Given the description of an element on the screen output the (x, y) to click on. 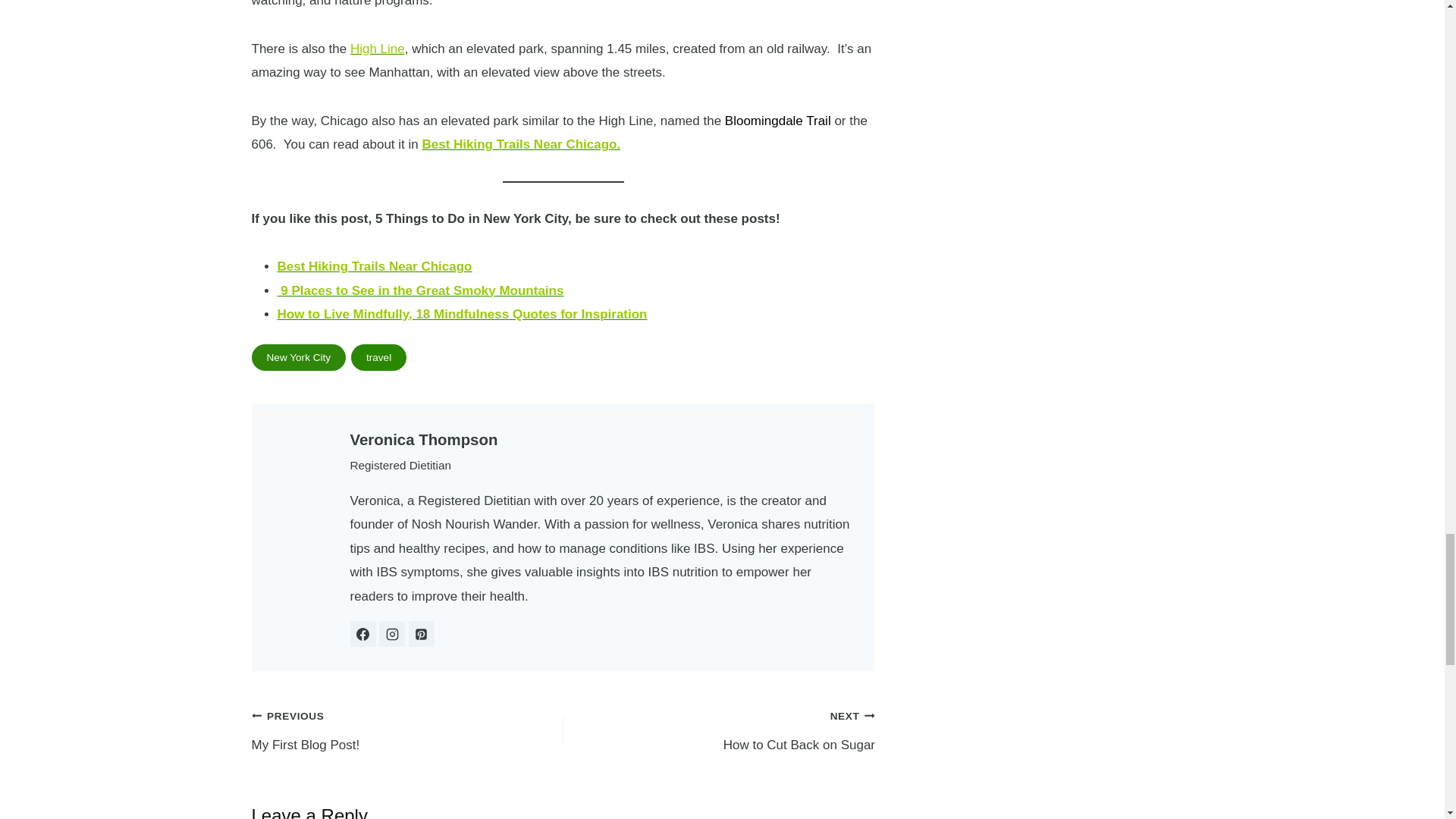
New York City (298, 357)
Follow Veronica Thompson on Instagram (407, 730)
travel (391, 633)
 9 Places to See in the Great Smoky Mountains (378, 357)
Best Hiking Trails Near Chicago. (421, 290)
Follow Veronica Thompson on Facebook (521, 144)
New York City (719, 730)
Posts by Veronica Thompson (362, 633)
Follow Veronica Thompson on Pinterest (298, 357)
High Line (423, 439)
How to Live Mindfully, 18 Mindfulness Quotes for Inspiration (421, 633)
travel (377, 48)
Best Hiking Trails Near Chicago (462, 314)
